Given the description of an element on the screen output the (x, y) to click on. 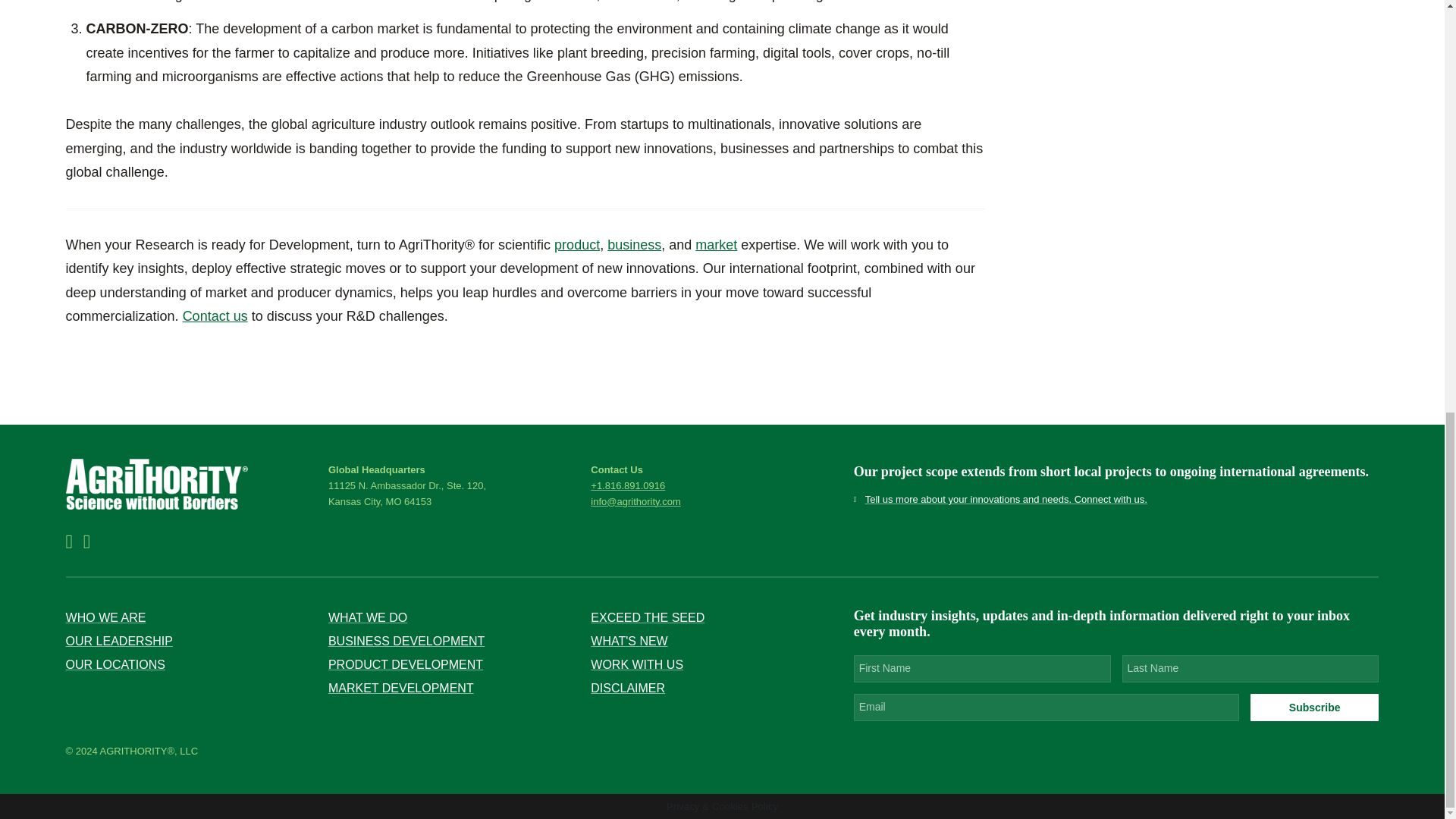
market (715, 244)
Contact us (215, 315)
product (576, 244)
business (634, 244)
